Given the description of an element on the screen output the (x, y) to click on. 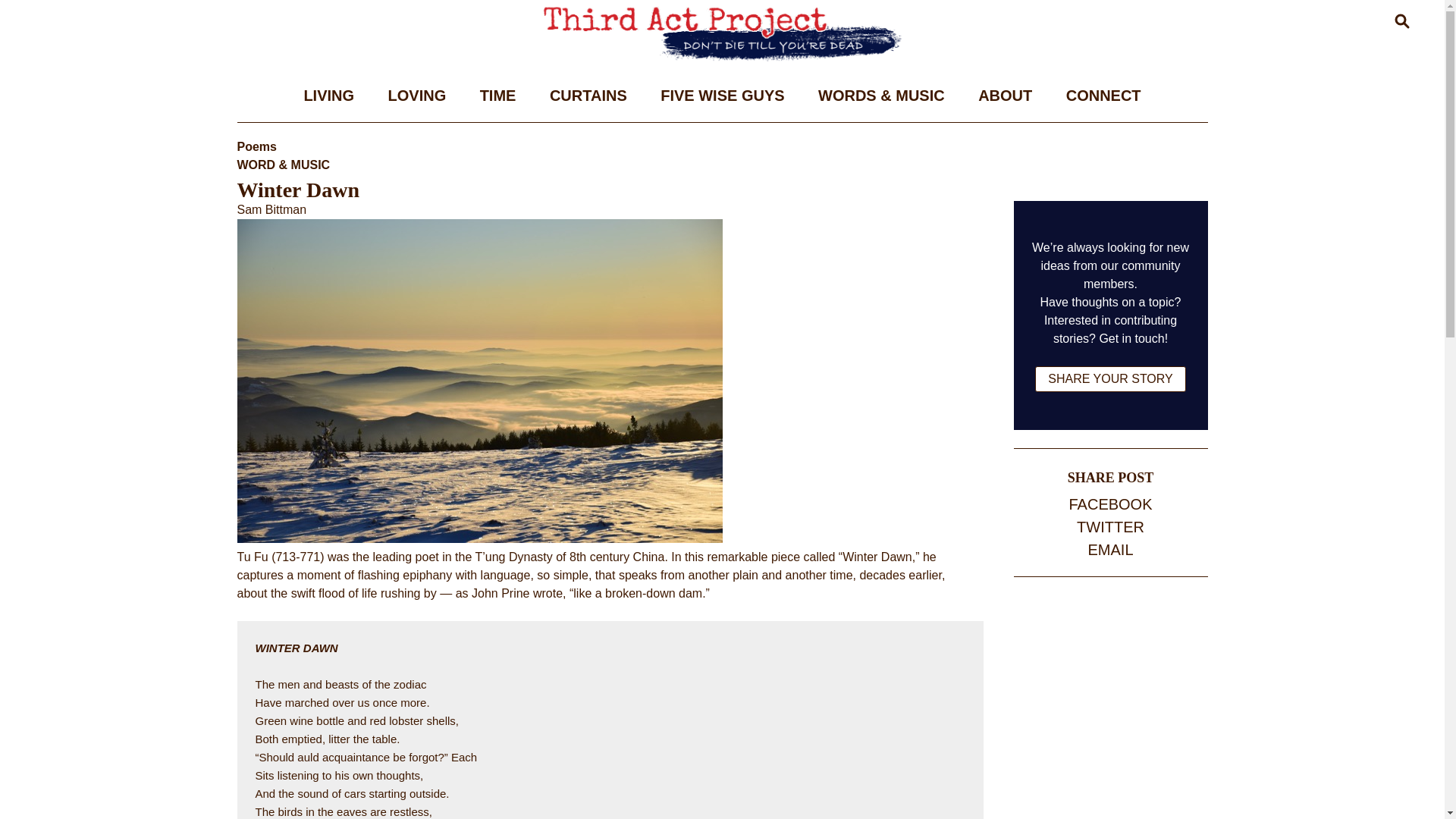
LOVING (416, 95)
TWITTER (1110, 526)
FIVE WISE GUYS (722, 95)
Search (1188, 92)
CURTAINS (588, 95)
Poems (255, 146)
CONNECT (1103, 95)
LIVING (328, 95)
Sam Bittman (270, 209)
Third Act Project (279, 89)
EMAIL (1110, 549)
FACEBOOK (1110, 504)
ABOUT (1004, 95)
TIME (497, 95)
SHARE YOUR STORY (1110, 379)
